Given the description of an element on the screen output the (x, y) to click on. 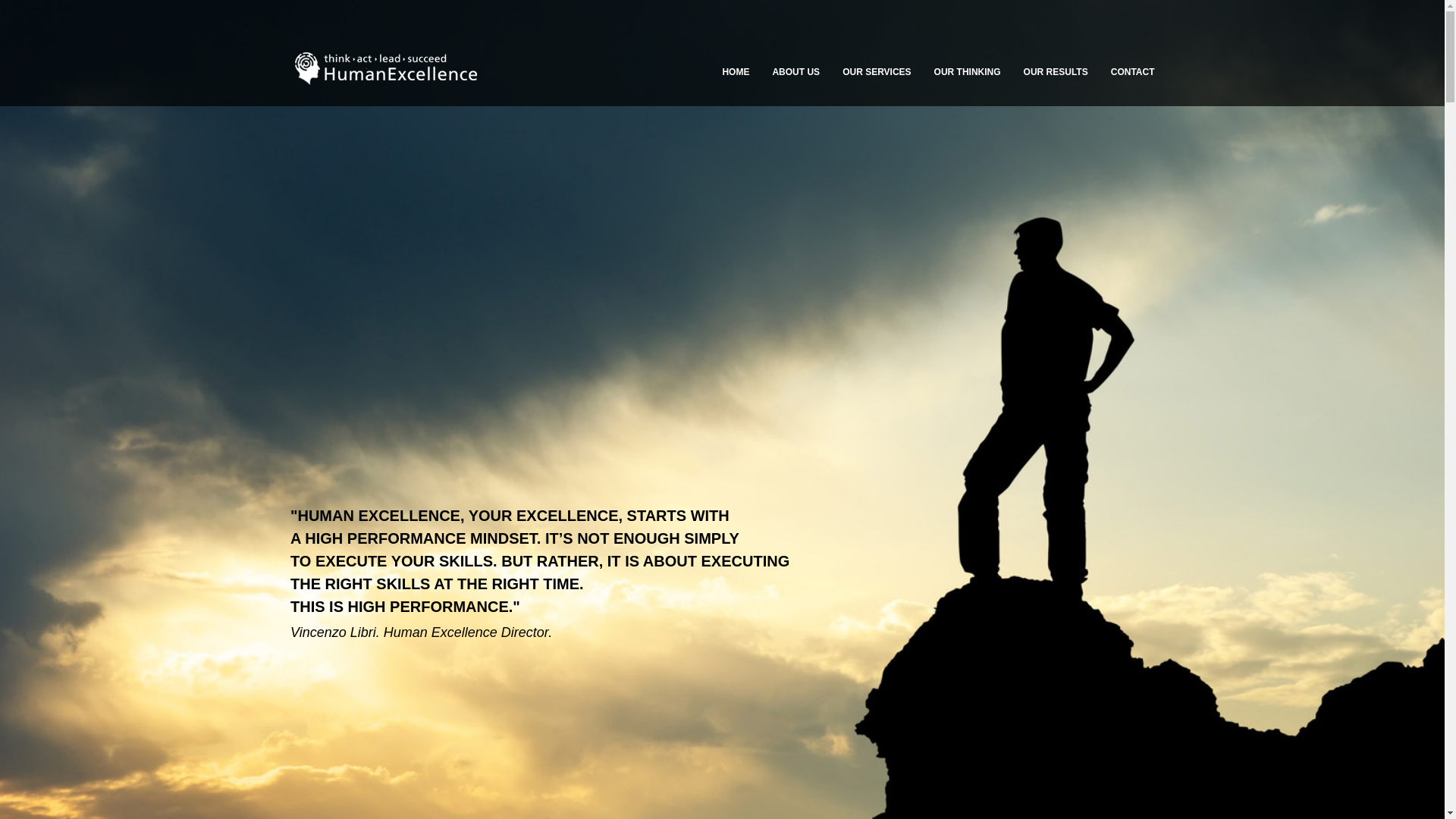
OUR RESULTS Element type: text (1055, 72)
HOME Element type: text (735, 72)
CONTACT Element type: text (1132, 72)
OUR THINKING Element type: text (967, 72)
ABOUT US Element type: text (795, 72)
OUR SERVICES Element type: text (876, 72)
